Given the description of an element on the screen output the (x, y) to click on. 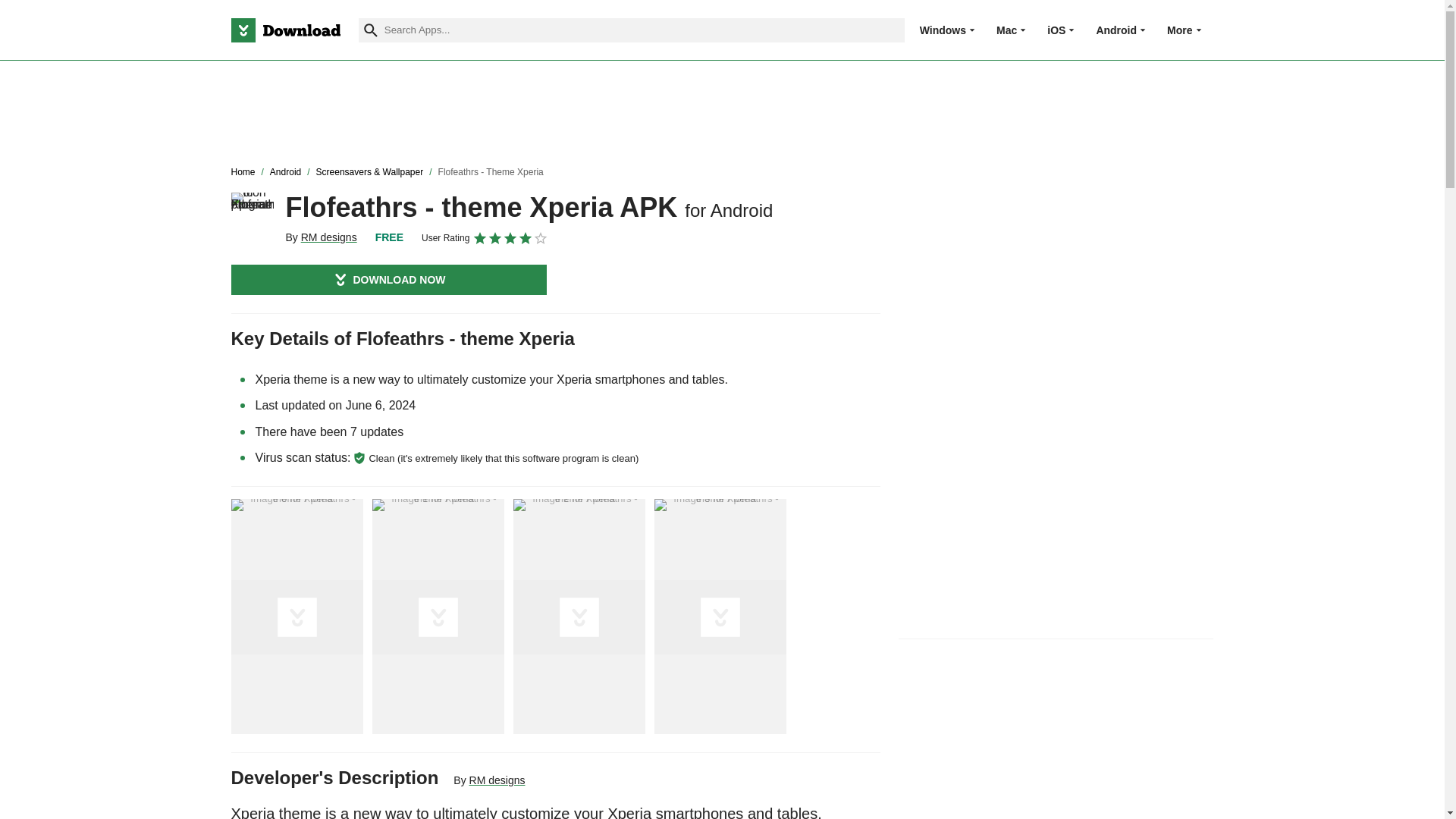
Windows (943, 29)
Flofeathrs - theme Xperia APK for Android (251, 213)
Mac (1005, 29)
